Given the description of an element on the screen output the (x, y) to click on. 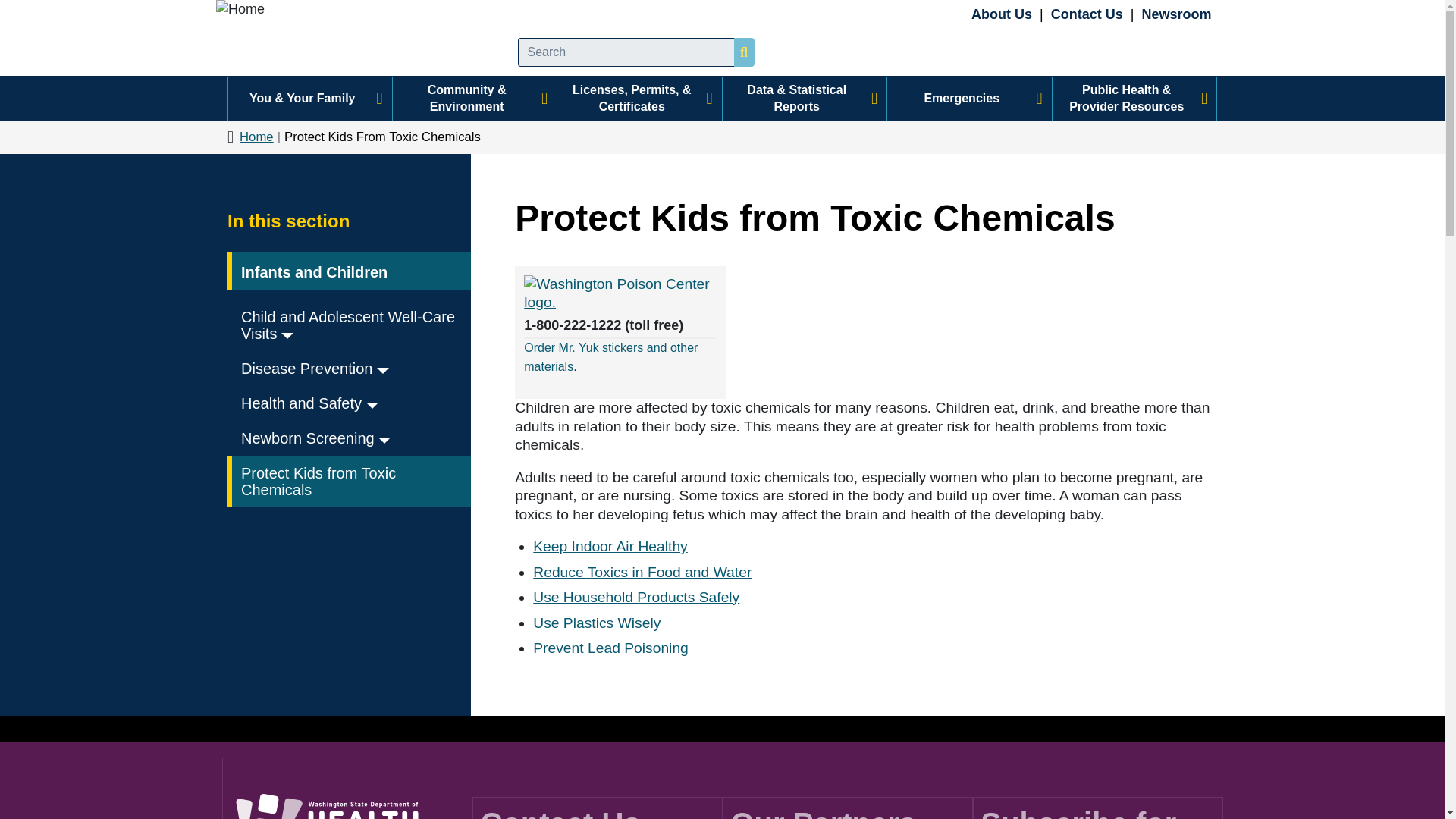
Search (747, 51)
Contact Us (1086, 14)
Enter the terms you wish to search for. (624, 51)
Home (357, 38)
About Us (1001, 14)
Newsroom (1176, 14)
